Given the description of an element on the screen output the (x, y) to click on. 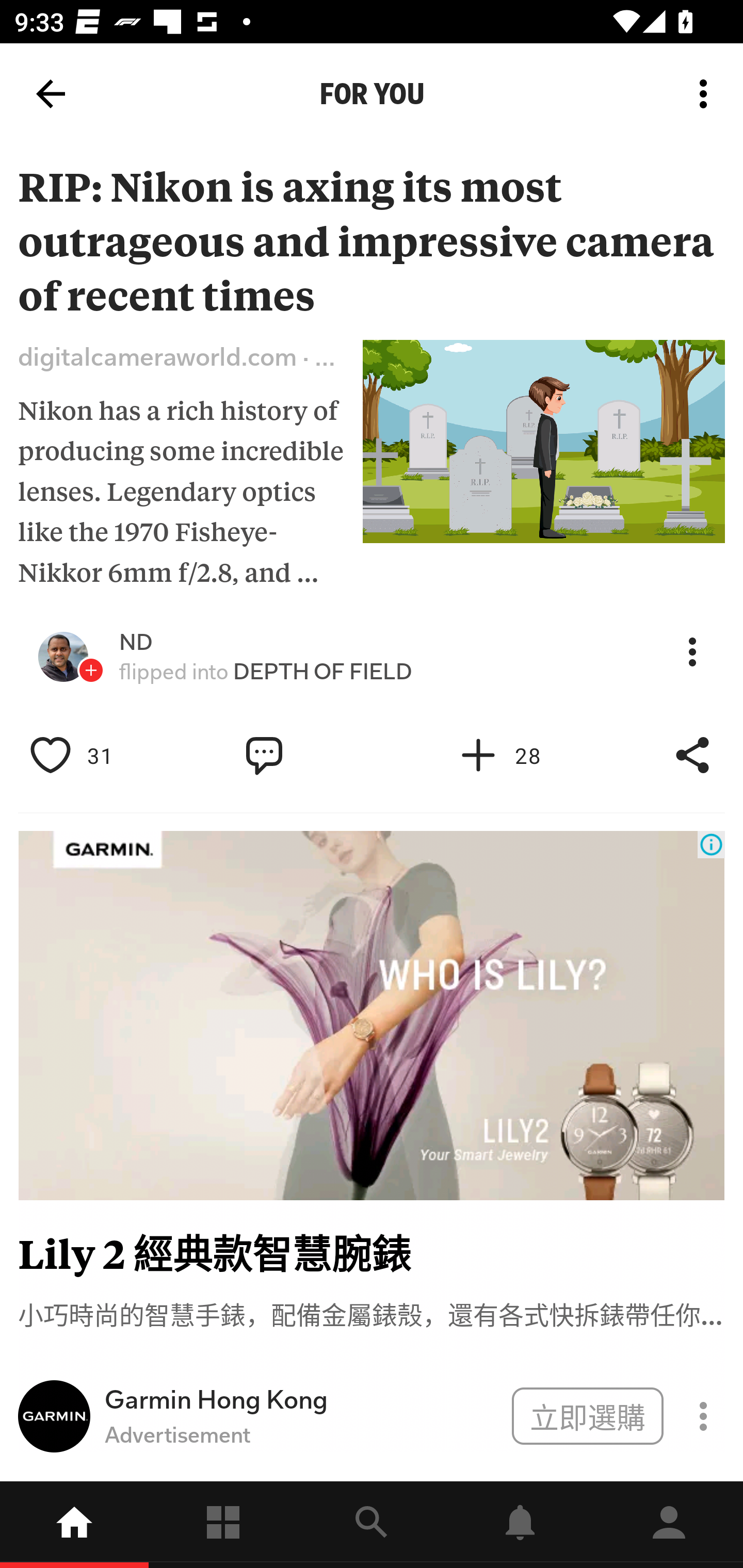
Back (50, 93)
FOR YOU (371, 93)
More options (706, 93)
More options (706, 93)
More options (706, 93)
More (692, 651)
ND (135, 641)
flipped into DEPTH OF FIELD (265, 671)
Like 31 (93, 755)
Write a comment… (307, 755)
Flip into Magazine 28 (521, 755)
Share (692, 755)
Ad Choices Icon (711, 844)
小巧時尚的智慧手錶，配備金屬錶殼，還有各式快拆錶帶任你選擇搭配，讓妳完美打造各種時尚造型。 (371, 1313)
Garmin Hong Kong (300, 1399)
立即選購 (587, 1415)
home (74, 1524)
Following (222, 1524)
explore (371, 1524)
Notifications (519, 1524)
Profile (668, 1524)
